Given the description of an element on the screen output the (x, y) to click on. 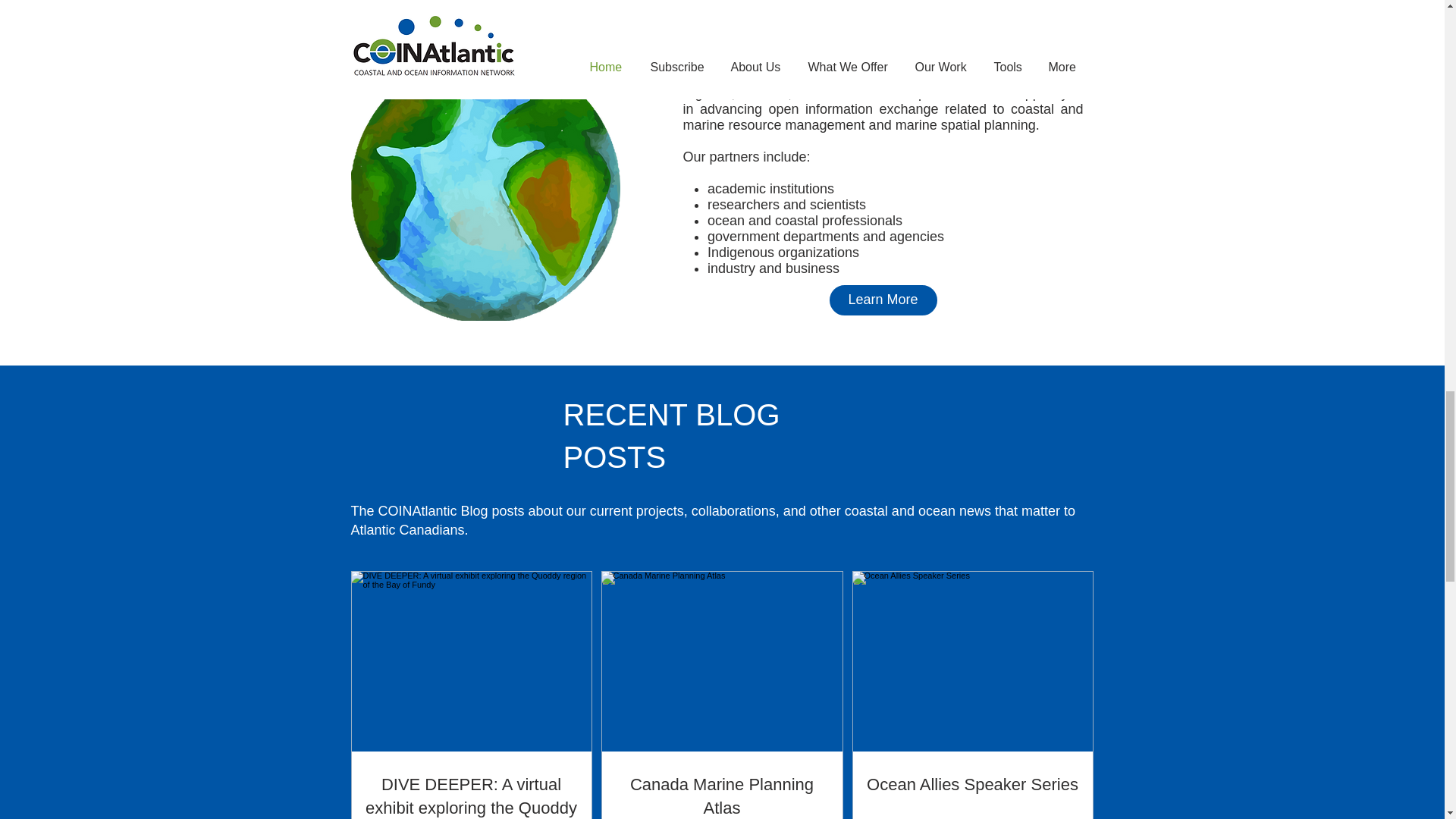
Canada Marine Planning Atlas (721, 796)
Learn More (883, 300)
Ocean Allies Speaker Series (972, 784)
